Given the description of an element on the screen output the (x, y) to click on. 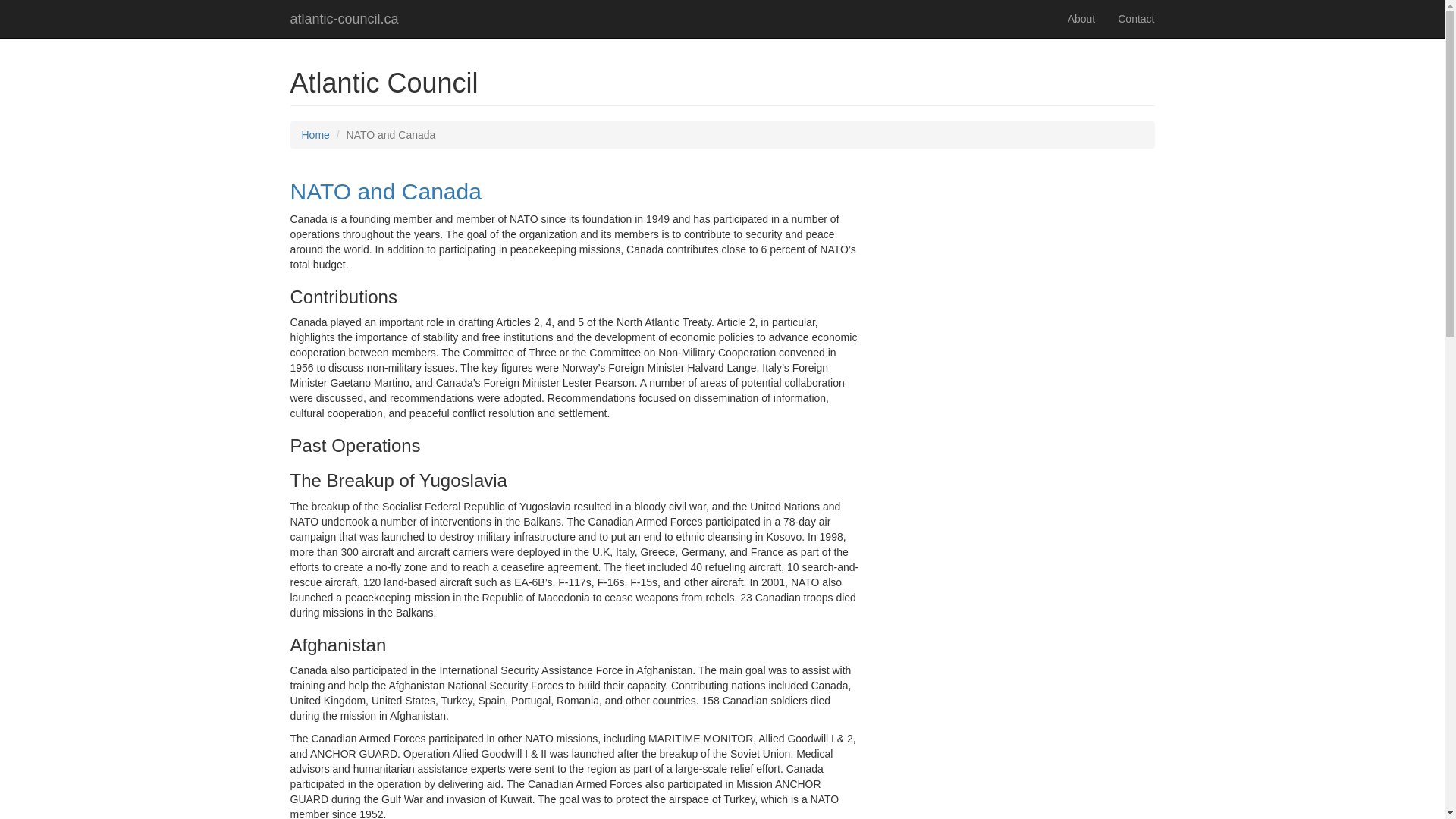
Home Element type: text (315, 134)
About Element type: text (1081, 18)
NATO and Canada Element type: text (384, 190)
Contact Element type: text (1135, 18)
atlantic-council.ca Element type: text (344, 18)
